Given the description of an element on the screen output the (x, y) to click on. 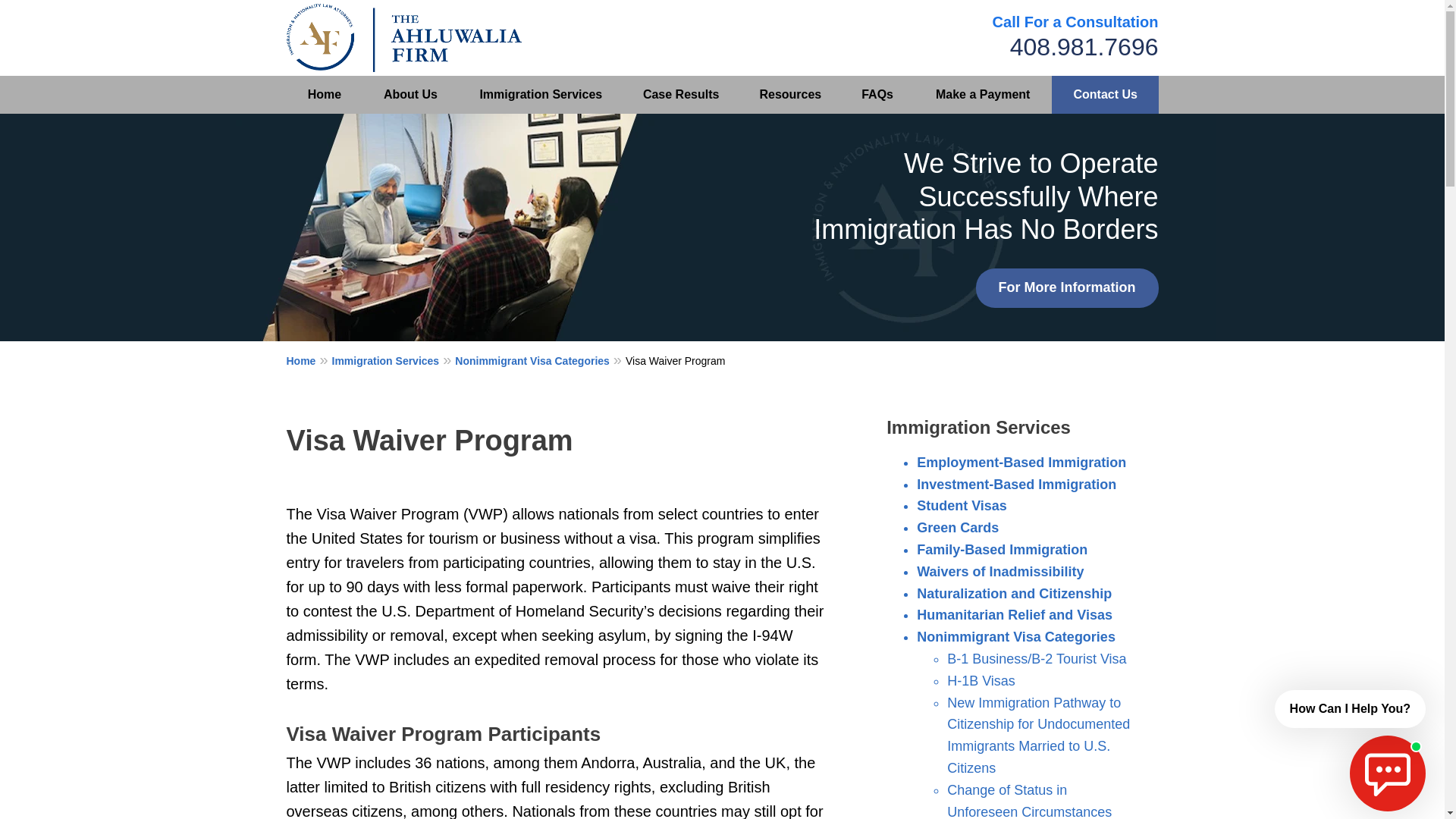
Case Results (681, 94)
Make a Payment (982, 94)
Contact Us (1104, 94)
Immigration Services (540, 94)
FAQs (877, 94)
Resources (789, 94)
Home (324, 94)
408.981.7696 (1084, 46)
About Us (410, 94)
